Given the description of an element on the screen output the (x, y) to click on. 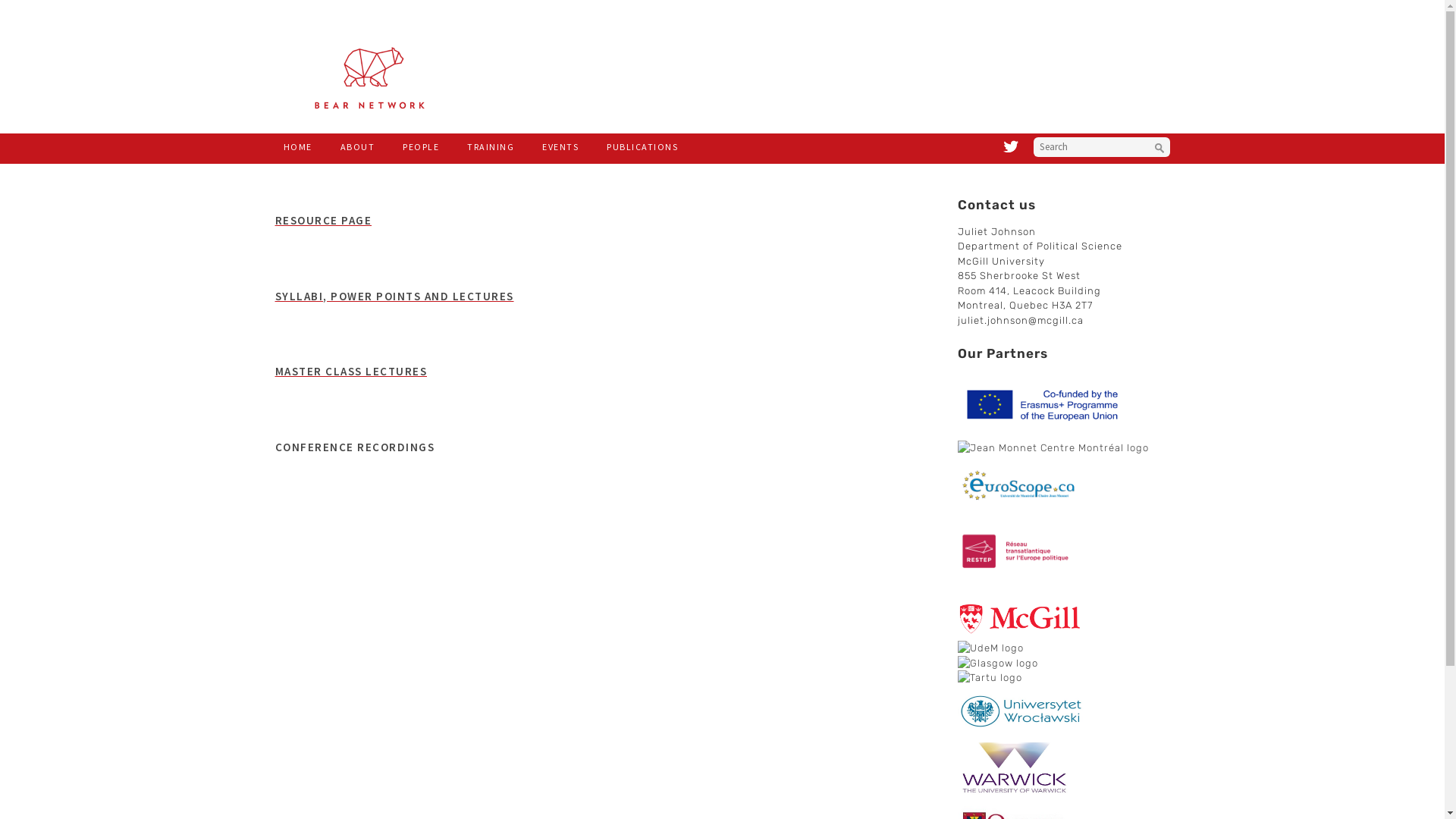
EVENTS Element type: text (559, 146)
PEOPLE Element type: text (420, 146)
CONFERENCE RECORDINGS Element type: text (354, 446)
RESOURCE PAGE Element type: text (322, 220)
PUBLICATIONS Element type: text (642, 146)
SYLLABI, POWER POINTS AND LECTURES Element type: text (393, 295)
ABOUT Element type: text (357, 146)
TRAINING Element type: text (490, 146)
MASTER CLASS LECTURES Element type: text (350, 371)
HOME Element type: text (297, 146)
